Given the description of an element on the screen output the (x, y) to click on. 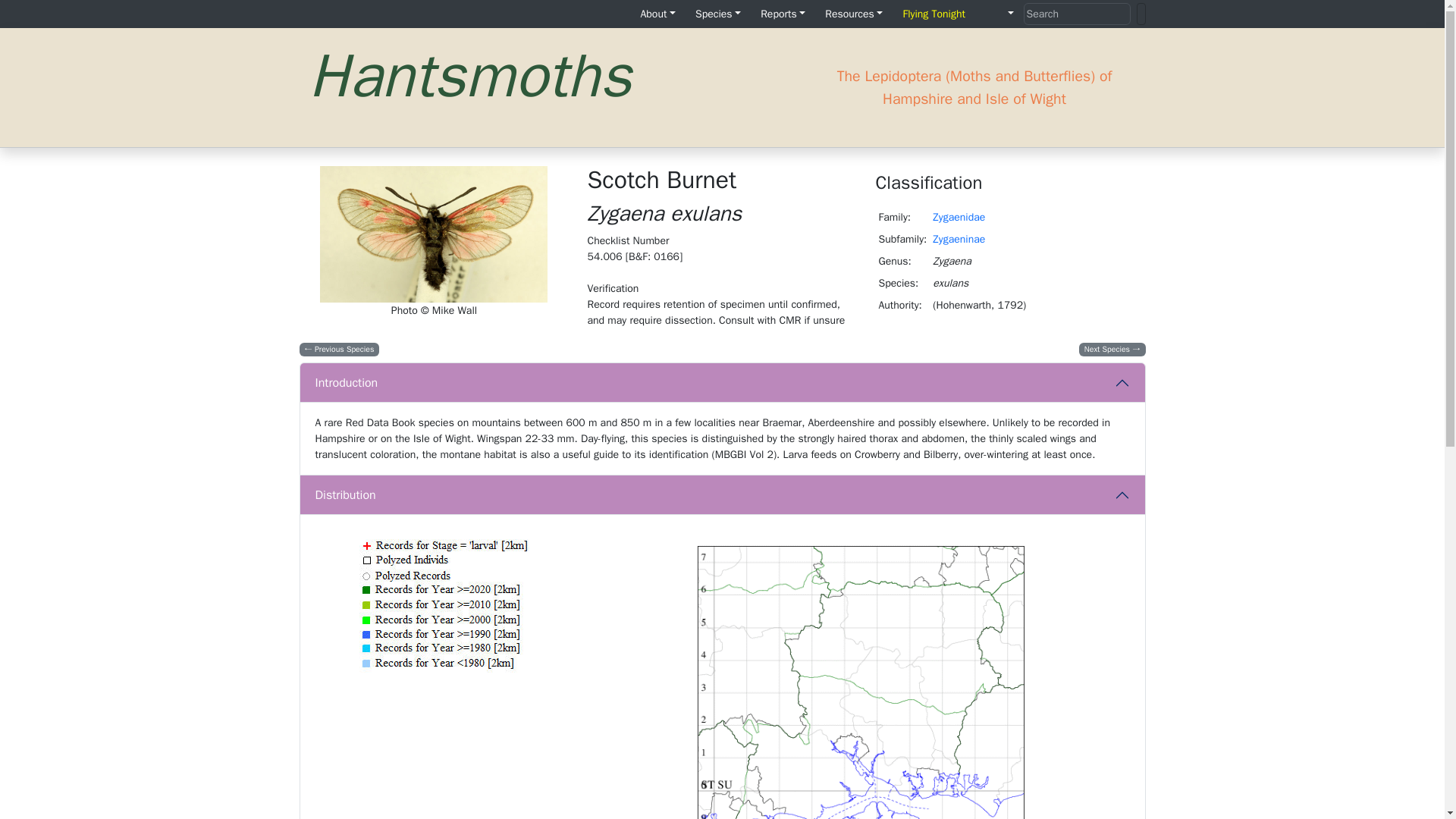
About (657, 13)
Introduction (721, 382)
Zygaenidae (959, 216)
Resources (853, 13)
Zygaeninae (959, 238)
Distribution (721, 495)
Species (717, 13)
Flying Tonight (933, 13)
Reports (782, 13)
